Given the description of an element on the screen output the (x, y) to click on. 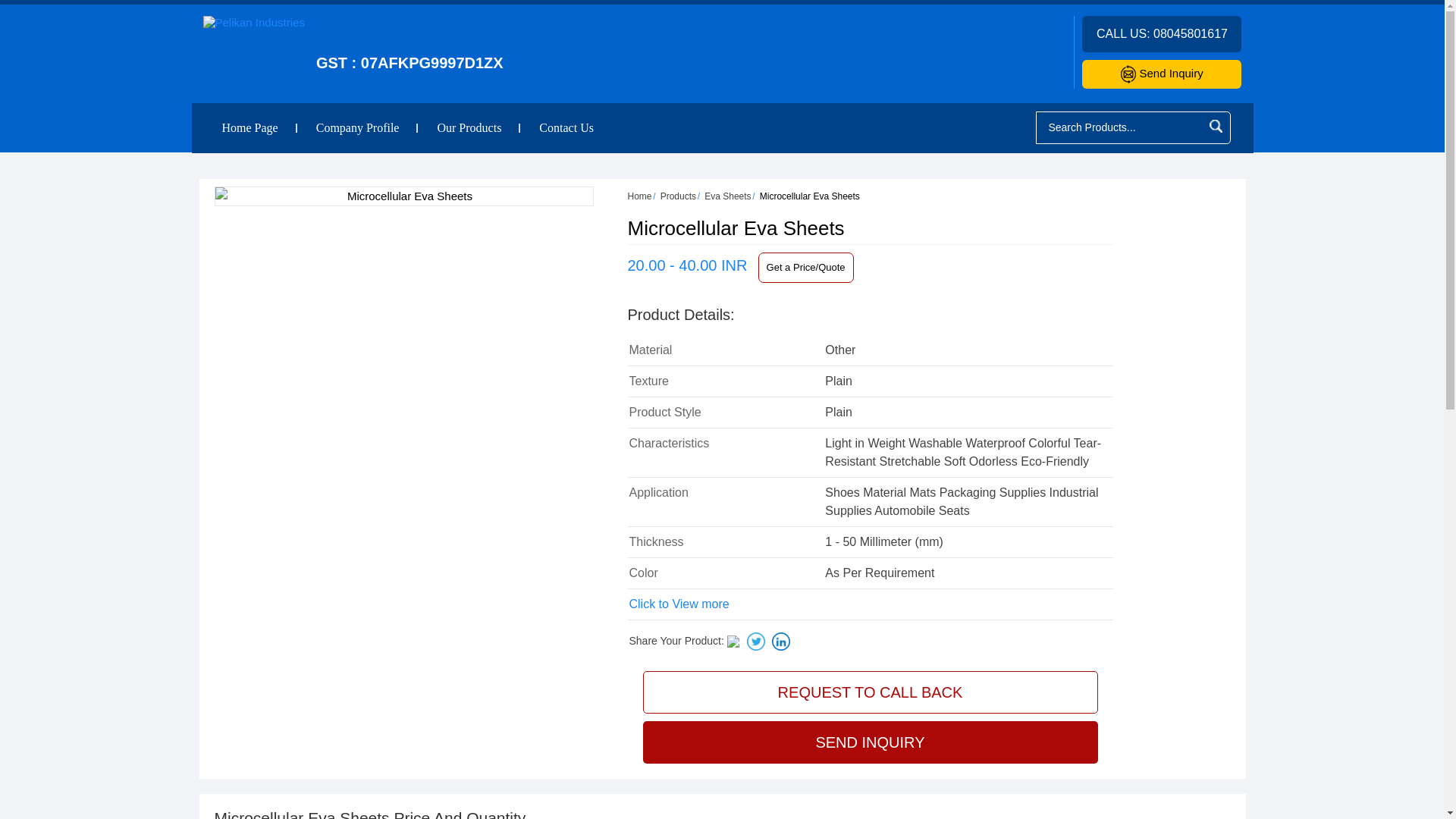
Home (639, 195)
Home Page (250, 128)
Eva Sheets (727, 195)
Our Products (468, 128)
Contact Us (565, 128)
submit (1215, 126)
Products (678, 195)
Search Products... (1120, 127)
Search (1215, 126)
SEND INQUIRY (870, 742)
Search Products... (1120, 127)
REQUEST TO CALL BACK (870, 691)
Click to View more (678, 604)
Company Profile (358, 128)
Send Inquiry (1161, 72)
